Given the description of an element on the screen output the (x, y) to click on. 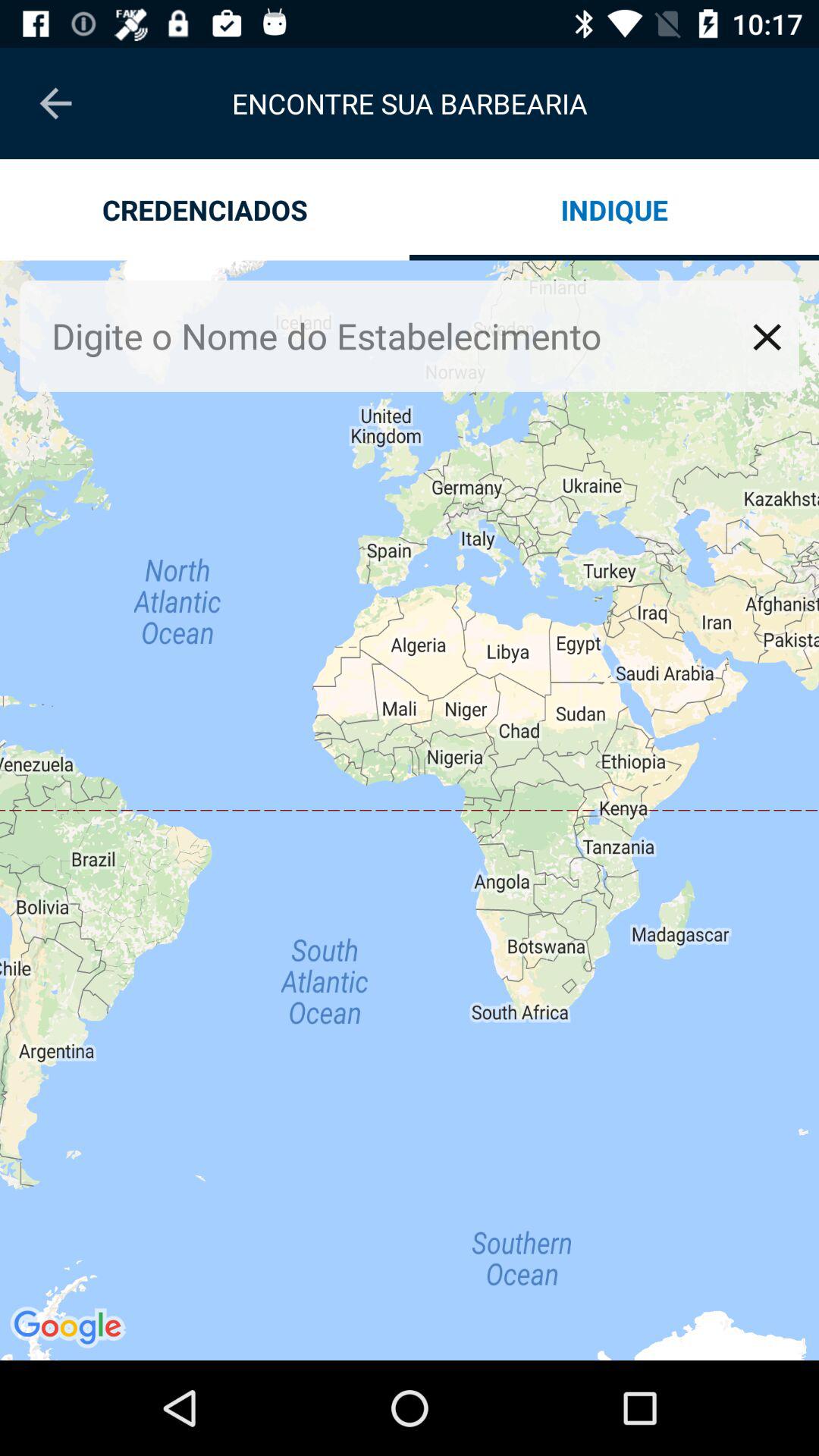
jump to the credenciados app (204, 209)
